Given the description of an element on the screen output the (x, y) to click on. 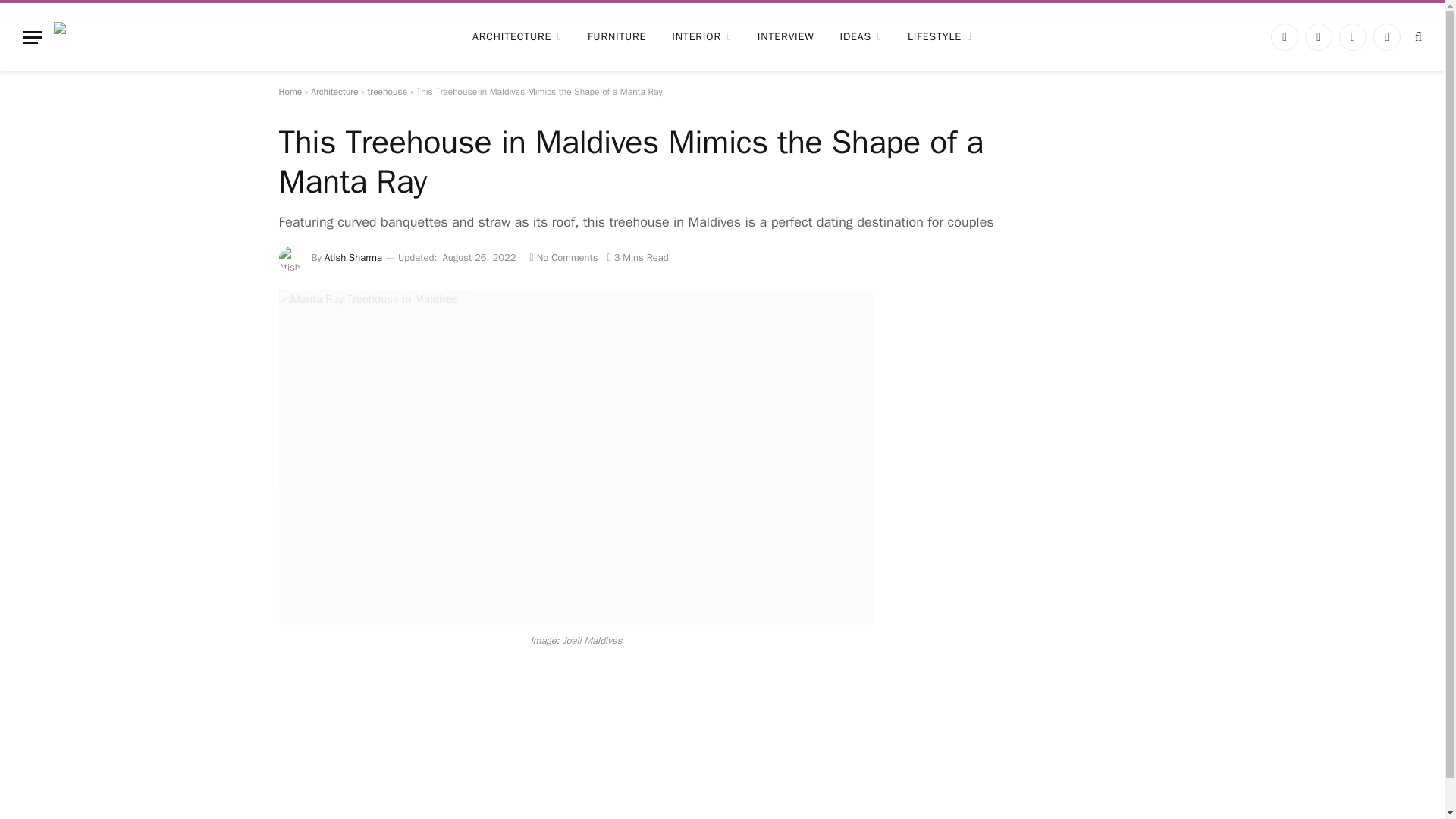
Posts by Atish Sharma (352, 256)
ARCHITECTURE (517, 37)
Search (1417, 36)
Homecrux (138, 36)
